Given the description of an element on the screen output the (x, y) to click on. 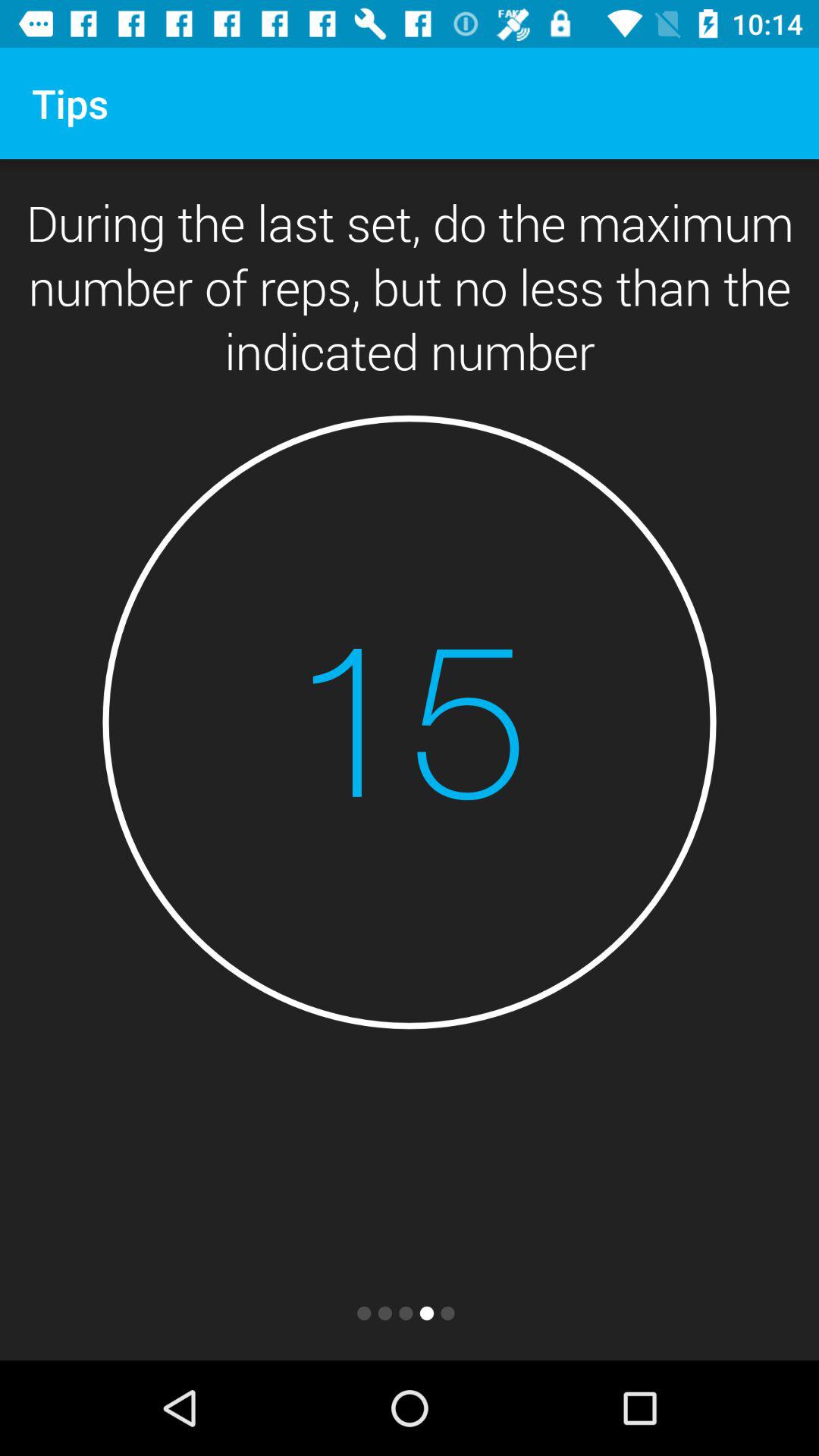
tap item below during the last item (409, 722)
